Given the description of an element on the screen output the (x, y) to click on. 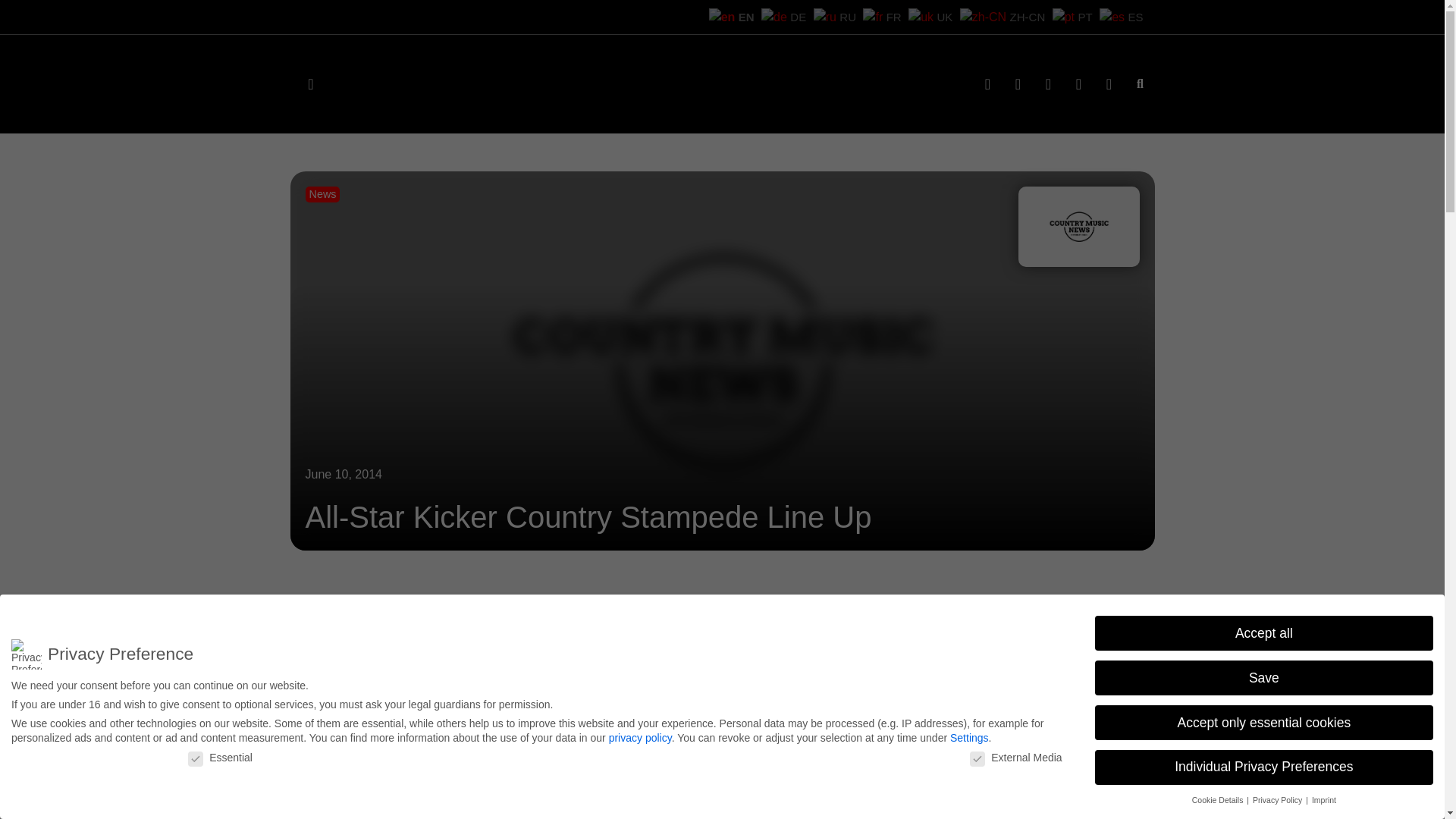
News (322, 193)
privacy policy (639, 737)
Accept only essential cookies (1263, 722)
Ukrainian (932, 15)
Accept all (1263, 632)
UK (932, 15)
Individual Privacy Preferences (1263, 767)
PT (1074, 15)
Russian (836, 15)
Imprint (1323, 799)
